Given the description of an element on the screen output the (x, y) to click on. 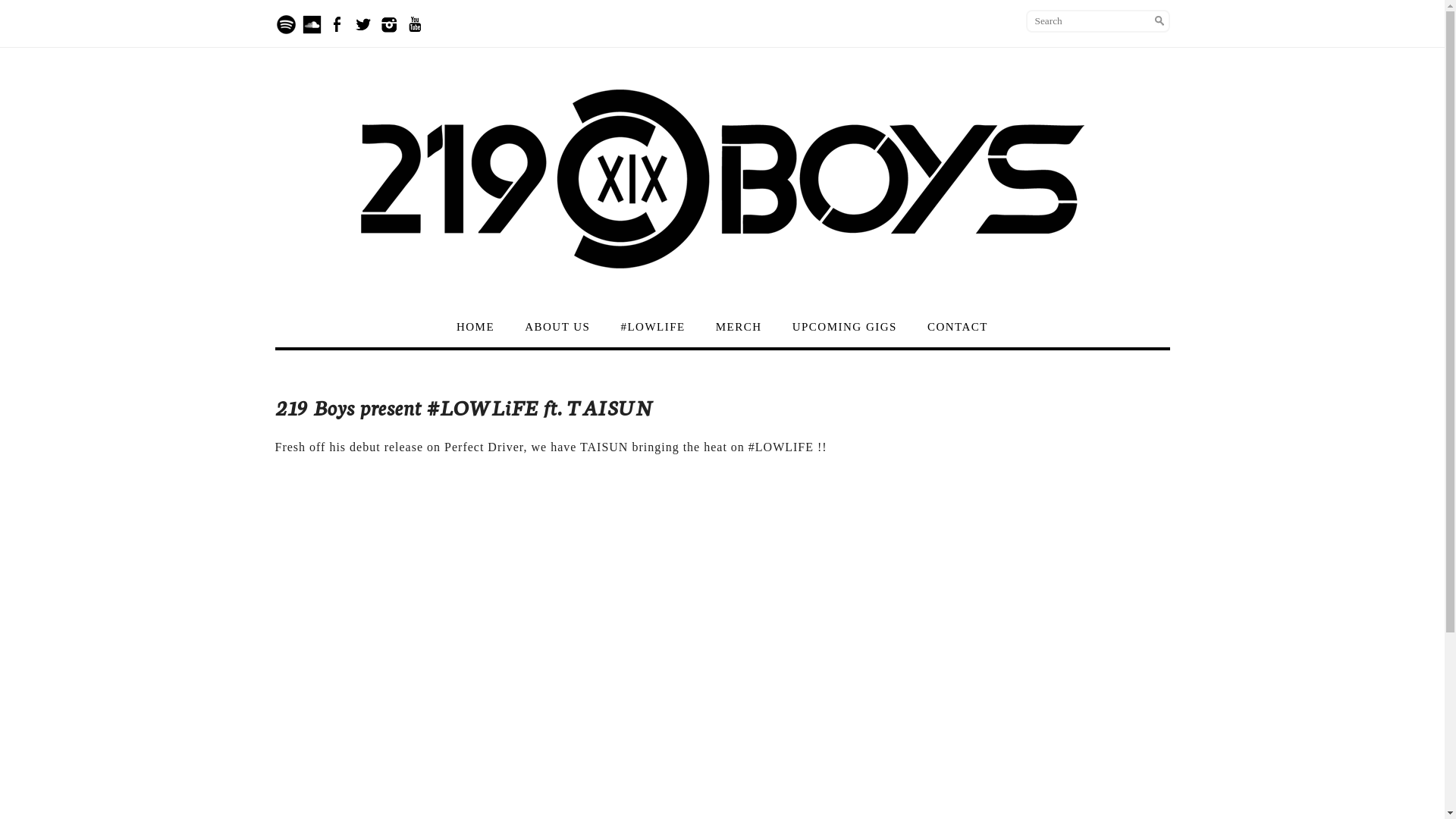
UPCOMING GIGS Element type: text (844, 326)
HOME Element type: text (475, 326)
ABOUT US Element type: text (557, 326)
MERCH Element type: text (738, 326)
#LOWLIFE Element type: text (652, 326)
CONTACT Element type: text (957, 326)
